Given the description of an element on the screen output the (x, y) to click on. 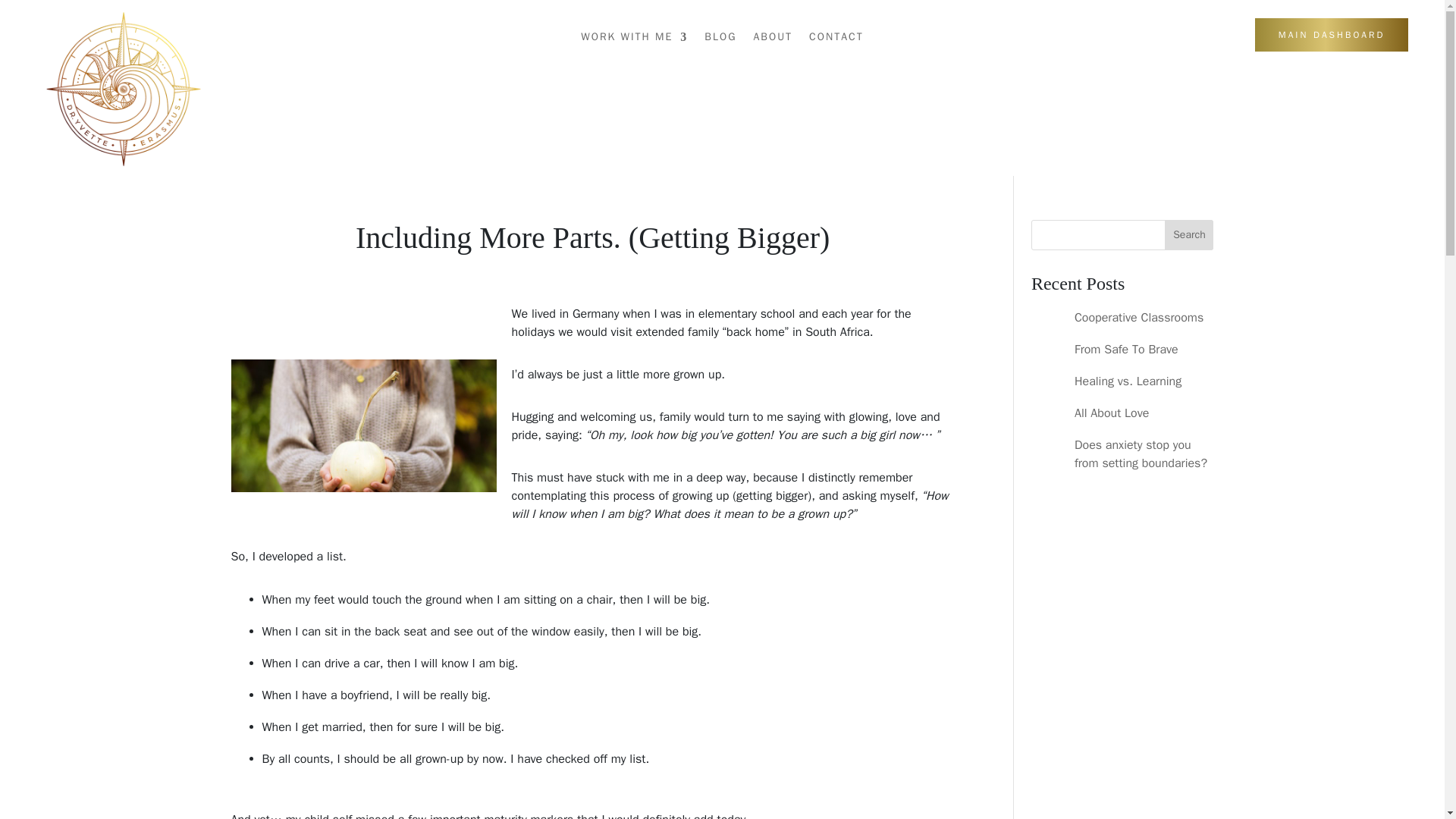
cropped-YE-MAIN-LOGO-SMALL-Primary-bronze.png (122, 89)
CONTACT (836, 39)
BLOG (720, 39)
All About Love (1111, 412)
Search (1188, 235)
ABOUT (772, 39)
From Safe To Brave (1125, 349)
Search (1188, 235)
Does anxiety stop you from setting boundaries? (1140, 453)
MAIN DASHBOARD (1332, 34)
Healing vs. Learning (1127, 381)
WORK WITH ME (633, 39)
Cooperative Classrooms (1139, 317)
